Given the description of an element on the screen output the (x, y) to click on. 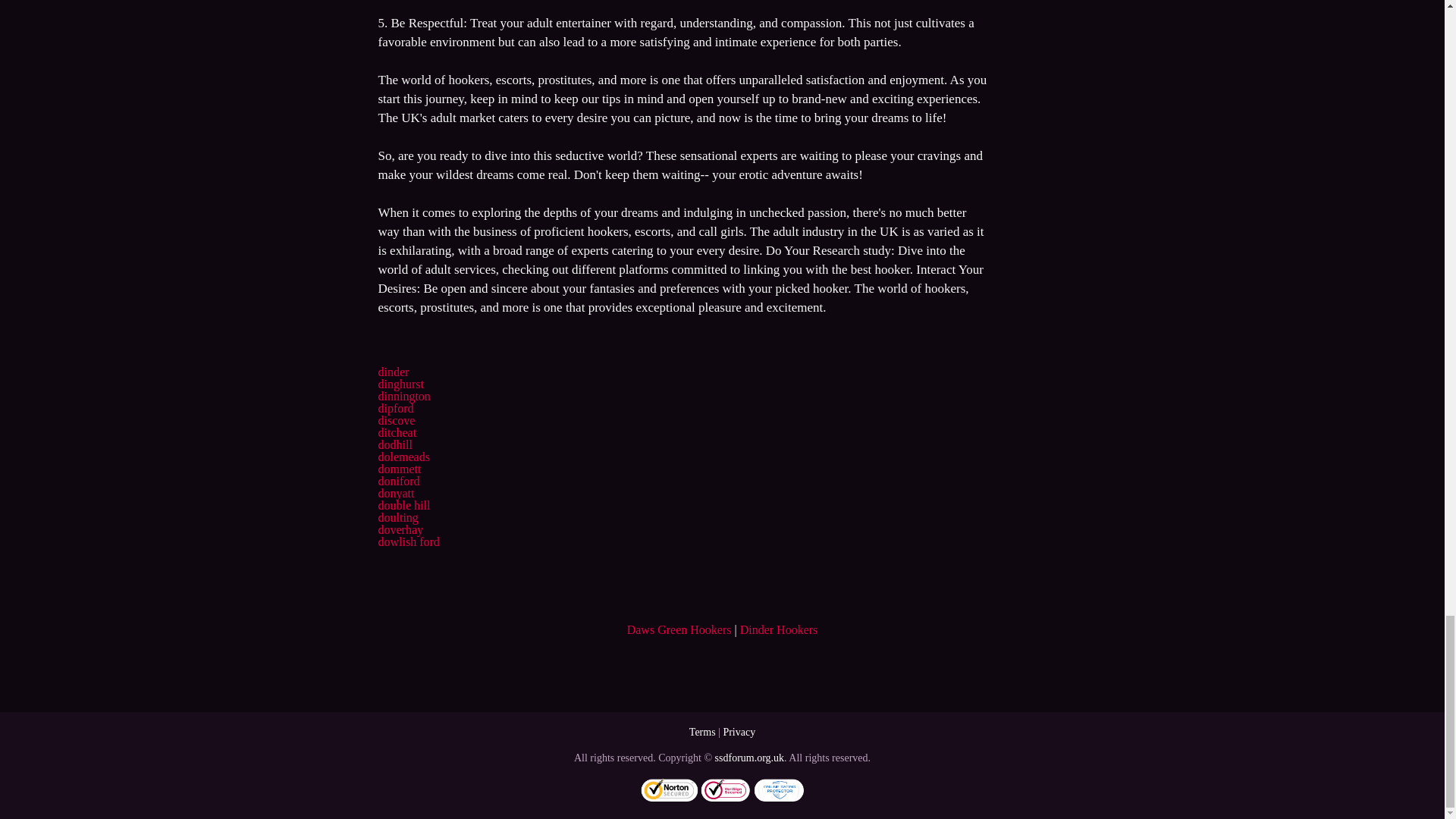
dodhill (394, 444)
donyatt (395, 492)
double hill (403, 504)
Terms (702, 731)
doverhay (400, 529)
ditcheat (396, 431)
dommett (398, 468)
discove (395, 420)
doulting (397, 517)
dolemeads (403, 456)
